Given the description of an element on the screen output the (x, y) to click on. 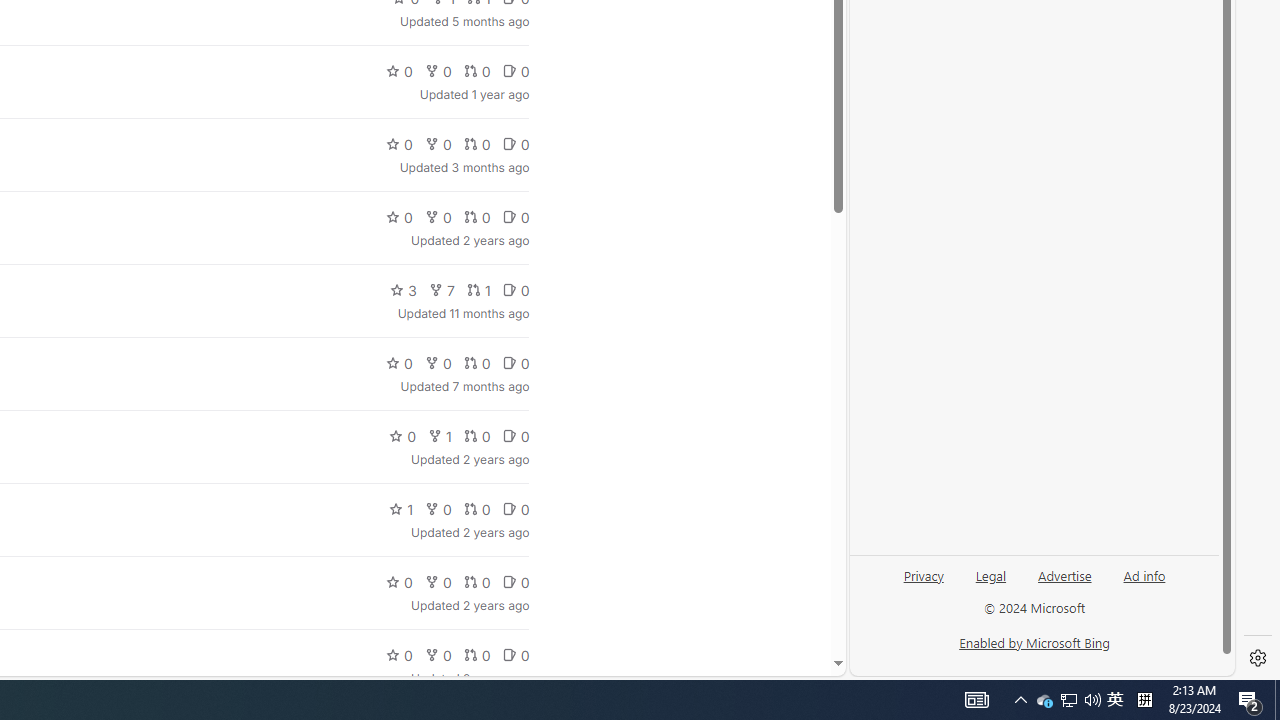
0 (515, 654)
Class: s14 gl-mr-2 (509, 655)
1 (401, 508)
7 (441, 289)
3 (403, 289)
